Given the description of an element on the screen output the (x, y) to click on. 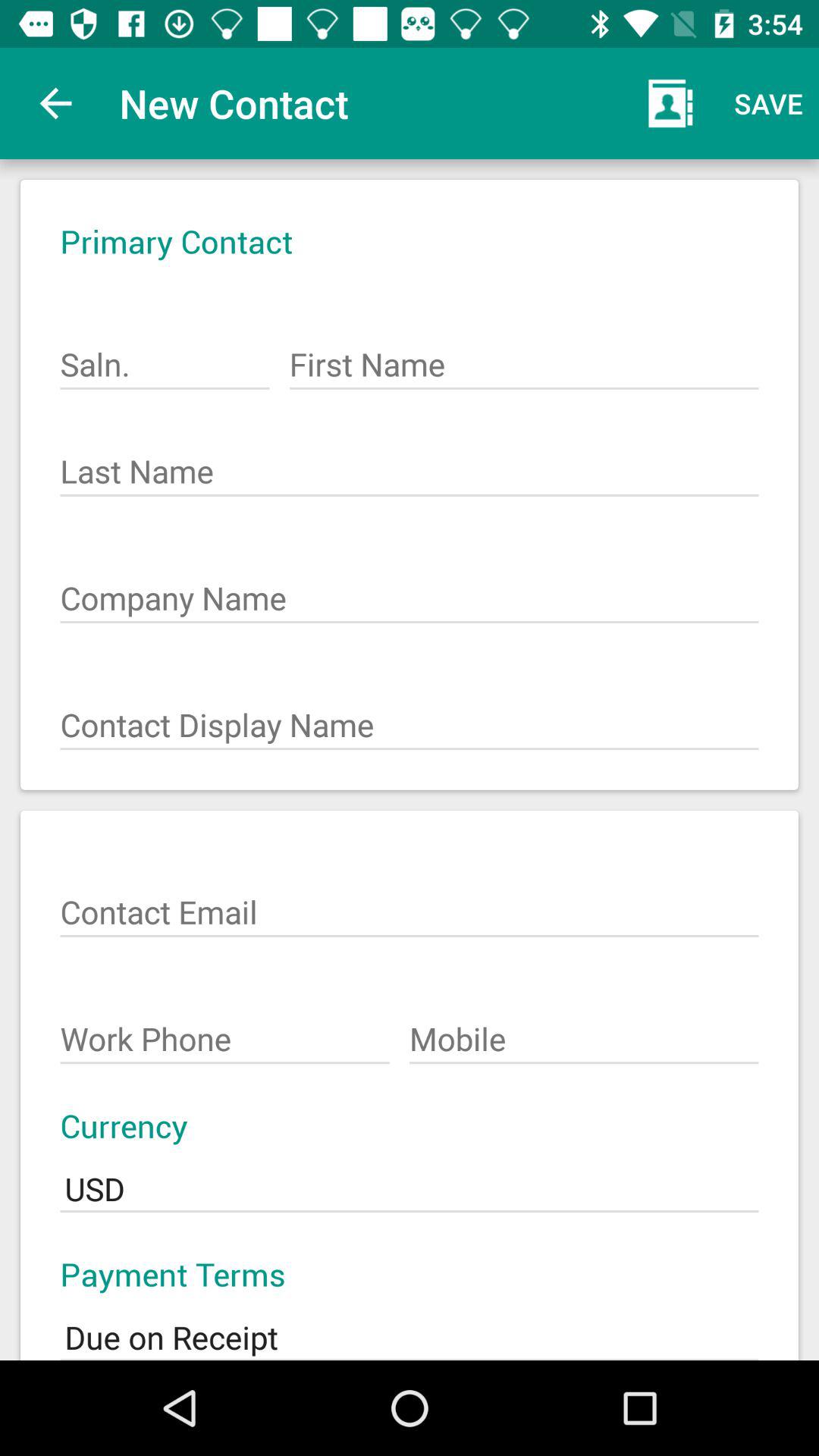
select save icon (768, 103)
